Given the description of an element on the screen output the (x, y) to click on. 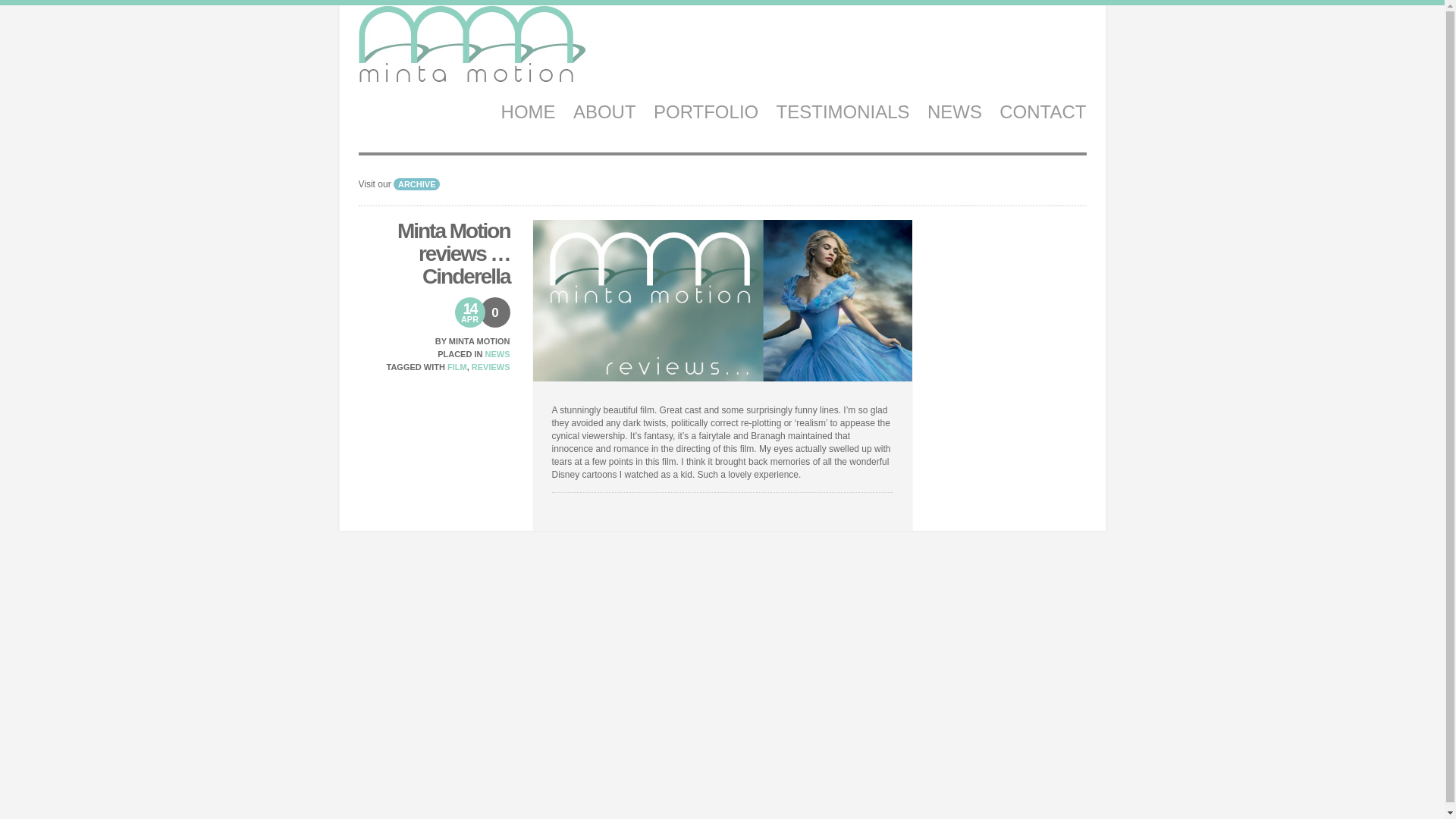
CONTACT (1042, 111)
NEWS (954, 111)
HOME (528, 111)
TESTIMONIALS (843, 111)
ABOUT (604, 111)
ARCHIVE (417, 184)
FILM (456, 366)
REVIEWS (491, 366)
NEWS (497, 353)
PORTFOLIO (705, 111)
